Given the description of an element on the screen output the (x, y) to click on. 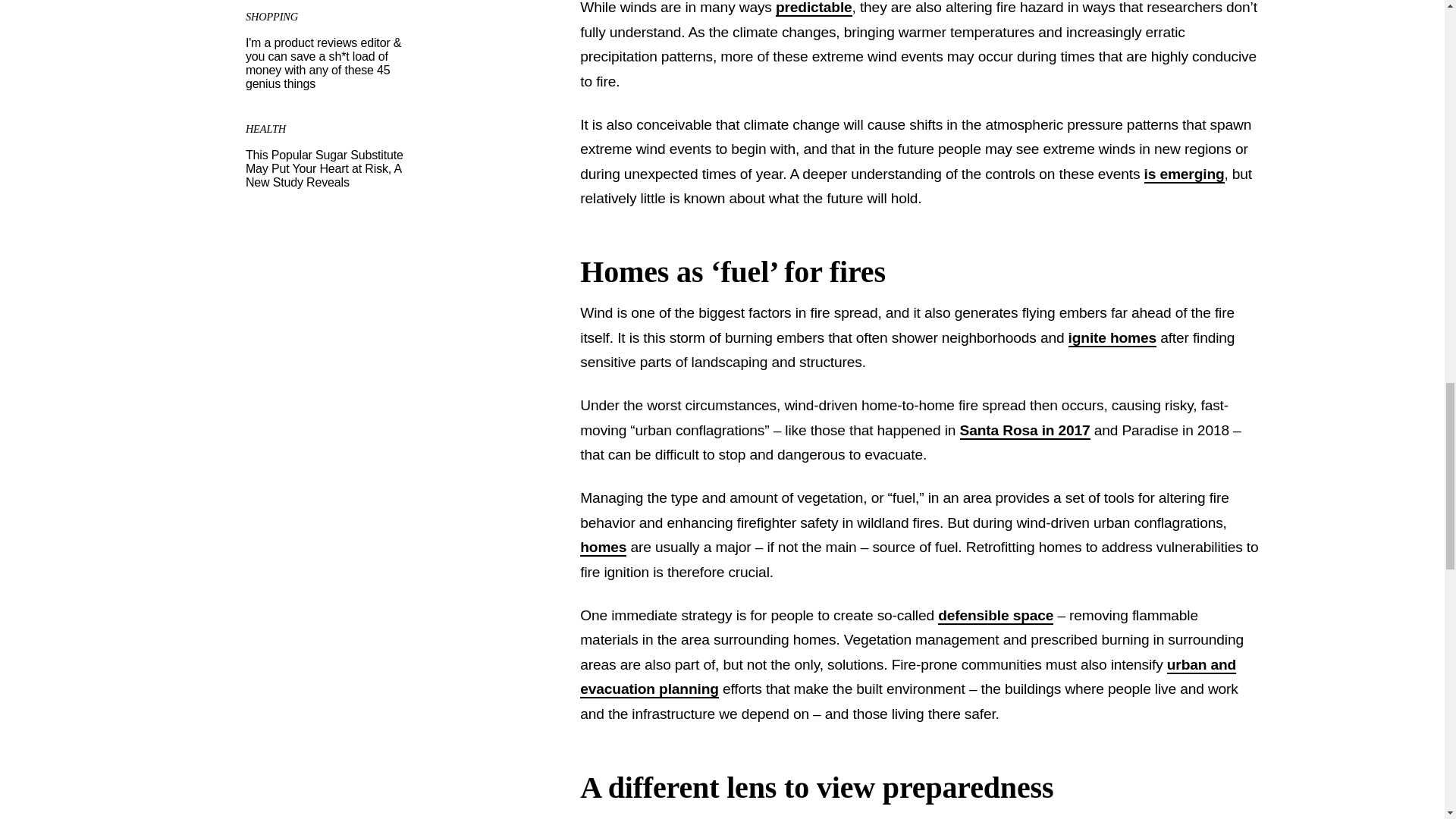
predictable (813, 8)
ignite homes (1112, 338)
homes (602, 547)
Santa Rosa in 2017 (1024, 430)
is emerging (1184, 174)
urban and evacuation planning (907, 677)
defensible space (994, 615)
